Given the description of an element on the screen output the (x, y) to click on. 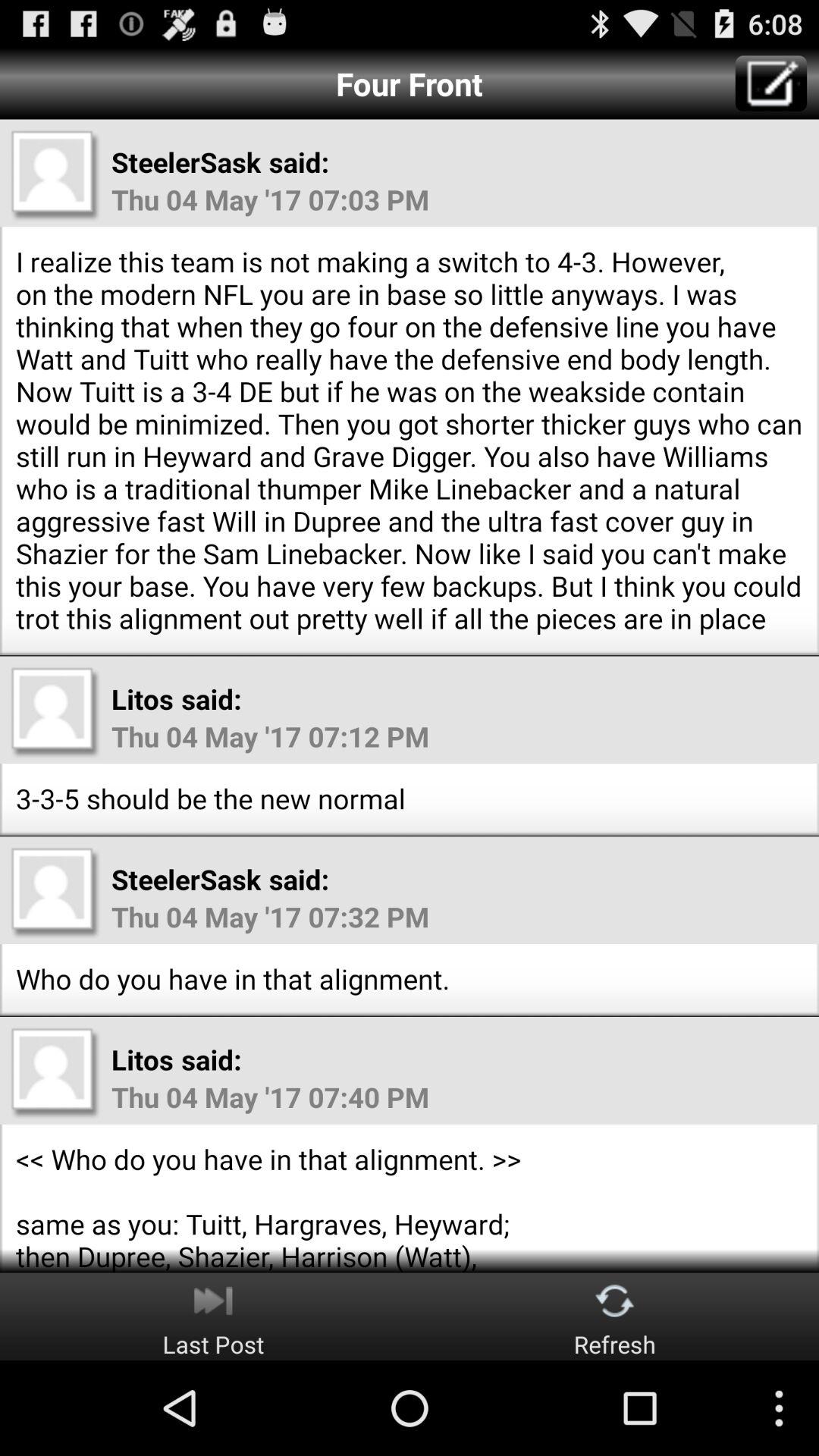
launch the item above said: item (771, 83)
